Given the description of an element on the screen output the (x, y) to click on. 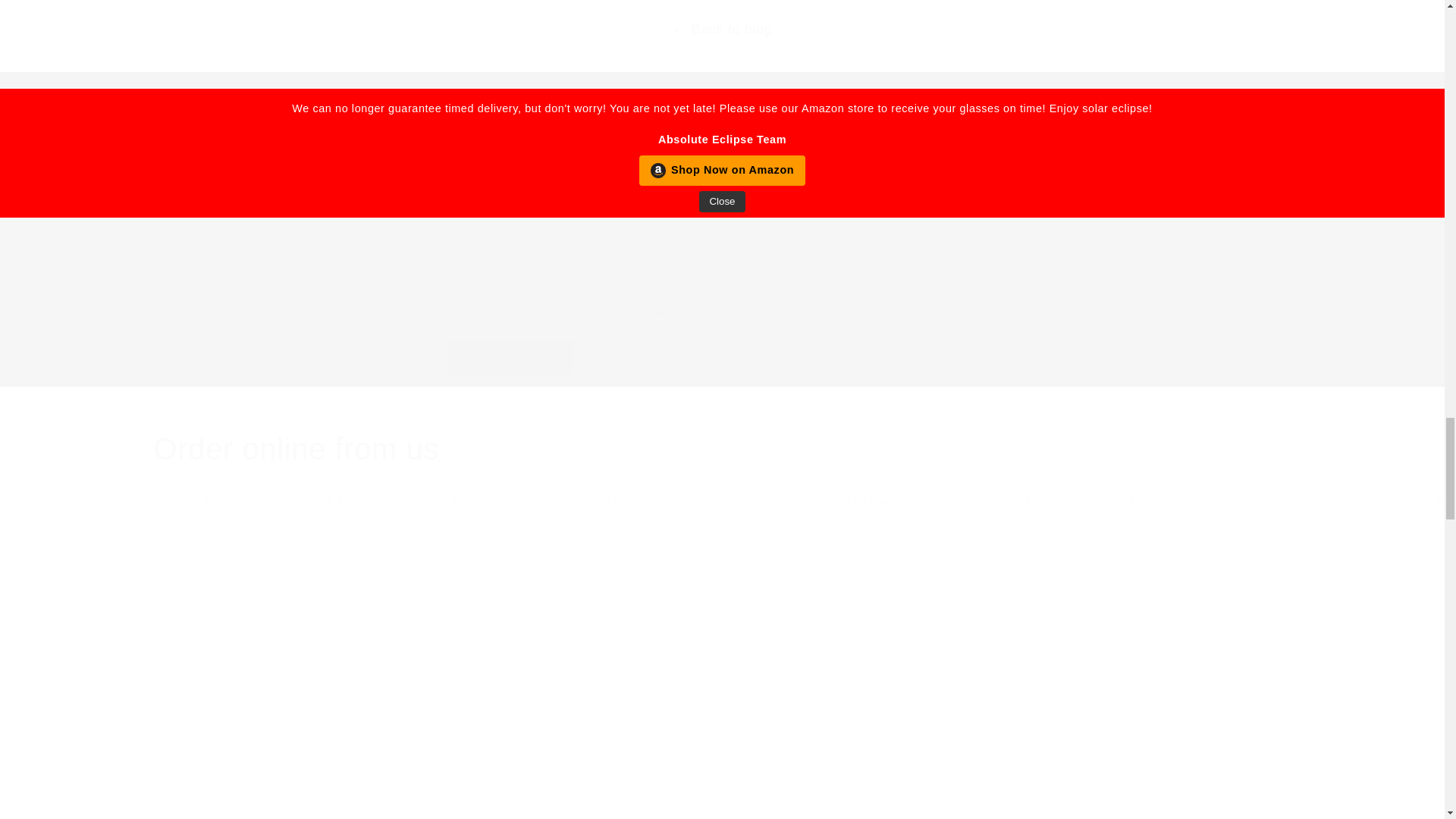
Order online from us (721, 448)
